Given the description of an element on the screen output the (x, y) to click on. 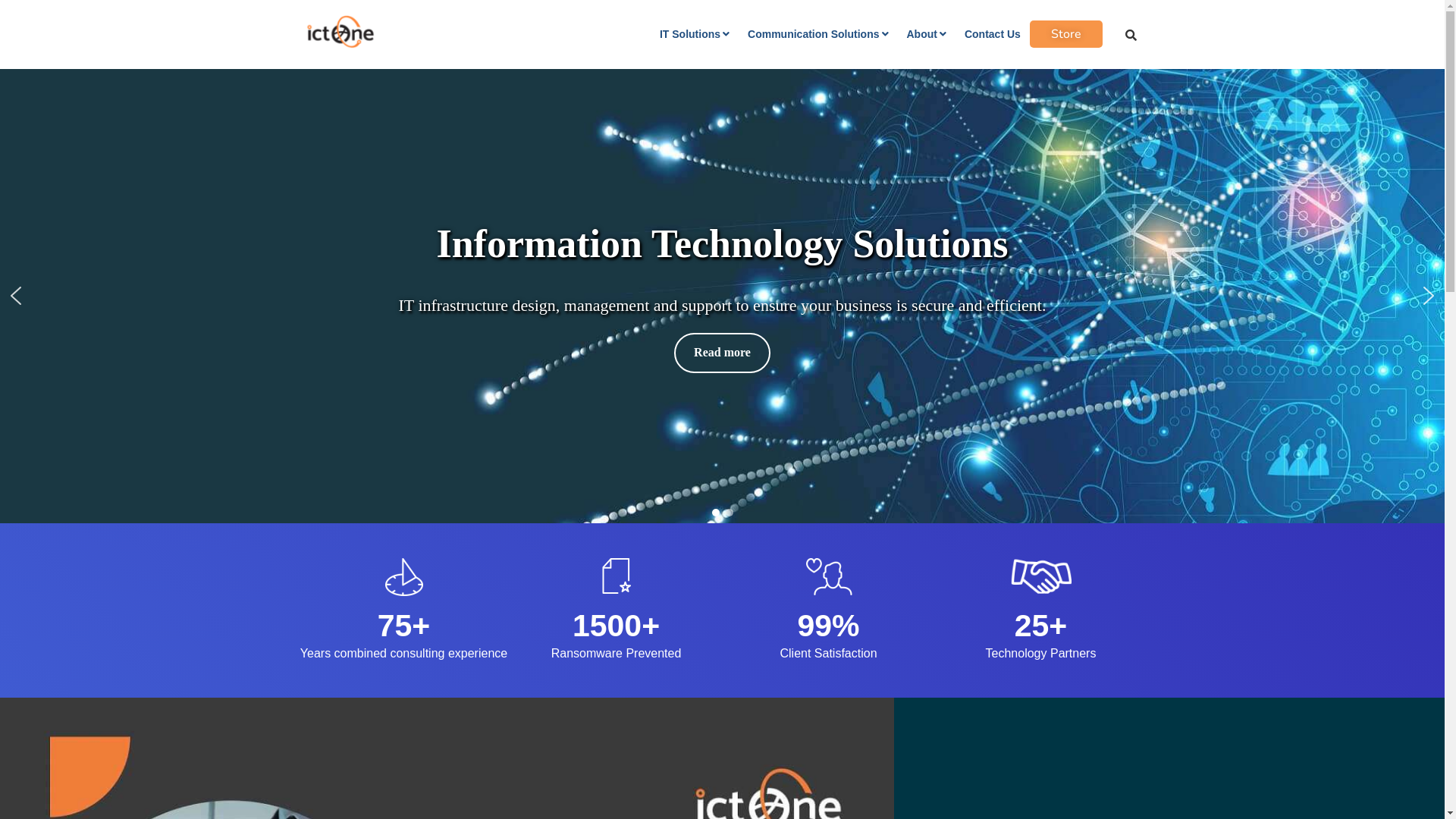
Read more Element type: text (722, 352)
Search Element type: hover (1120, 34)
Store Element type: text (1065, 33)
ransomware-protection Element type: hover (615, 577)
ictone-services Element type: hover (404, 577)
technology-partners Element type: hover (1040, 577)
About Element type: text (926, 33)
Communication Solutions Element type: text (817, 33)
IT Solutions Element type: text (694, 33)
client-satisfaction Element type: hover (828, 577)
Contact Us Element type: text (992, 33)
